Given the description of an element on the screen output the (x, y) to click on. 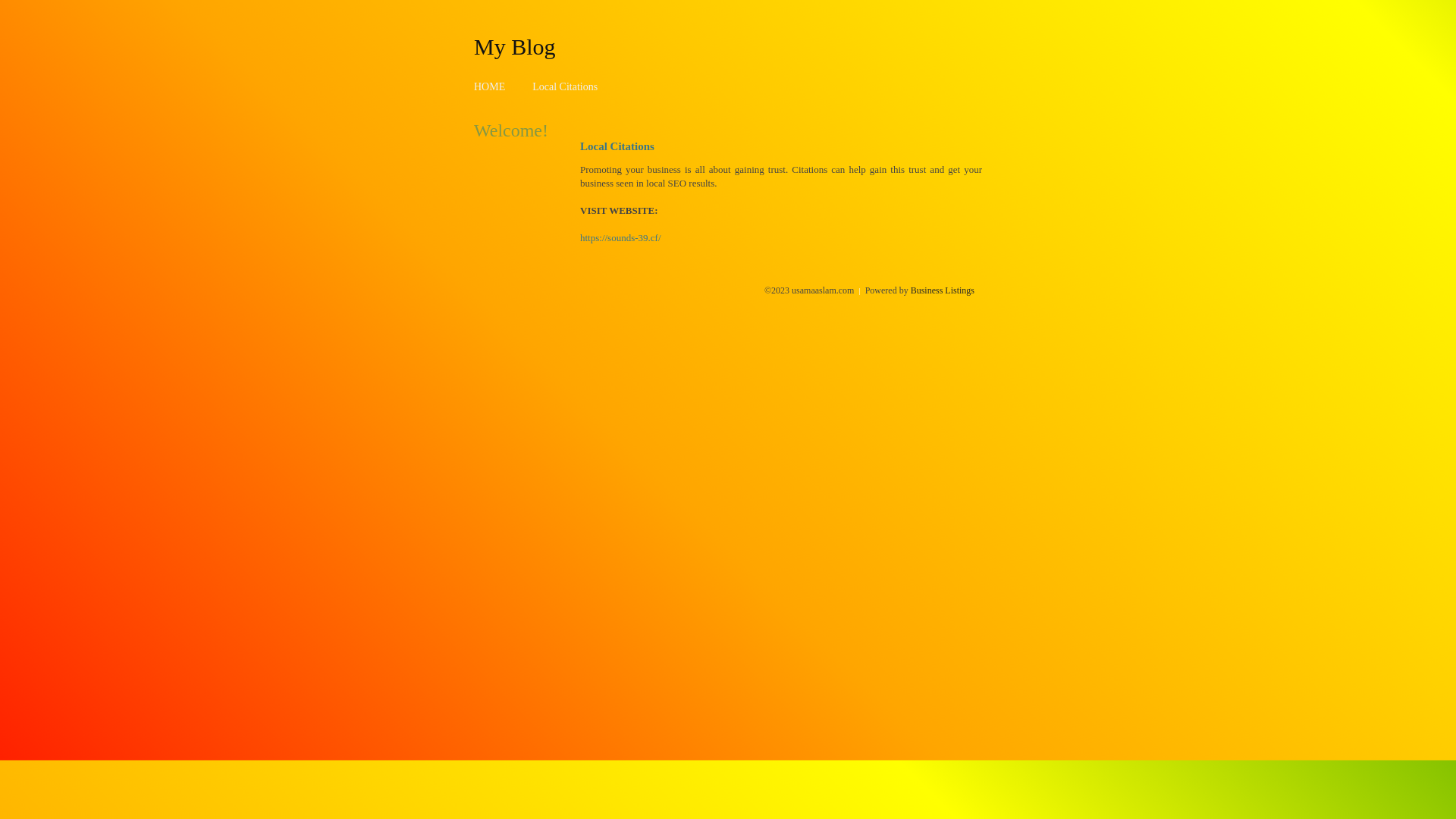
Local Citations Element type: text (564, 86)
HOME Element type: text (489, 86)
https://sounds-39.cf/ Element type: text (620, 237)
Business Listings Element type: text (942, 290)
My Blog Element type: text (514, 46)
